Given the description of an element on the screen output the (x, y) to click on. 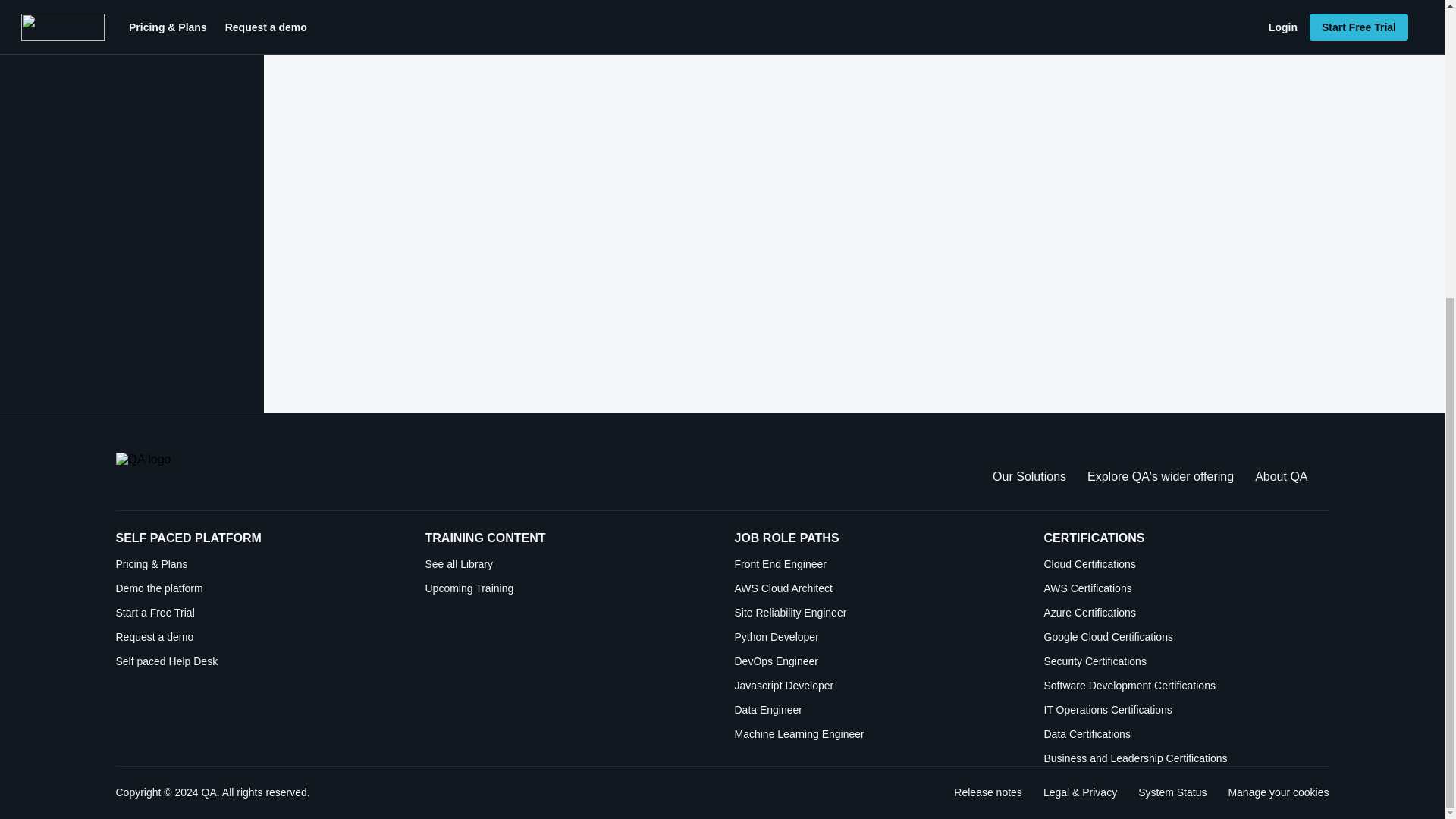
Site Reliability Engineer (876, 612)
Self paced Help Desk (257, 661)
IT Operations Certifications (1185, 709)
DevOps Engineer (876, 661)
AWS Certifications (1185, 588)
Manage your cookies (1277, 792)
See all Library (567, 563)
Explore QA's wider offering (1160, 476)
Security Certifications (1185, 661)
Javascript Developer (876, 685)
